Given the description of an element on the screen output the (x, y) to click on. 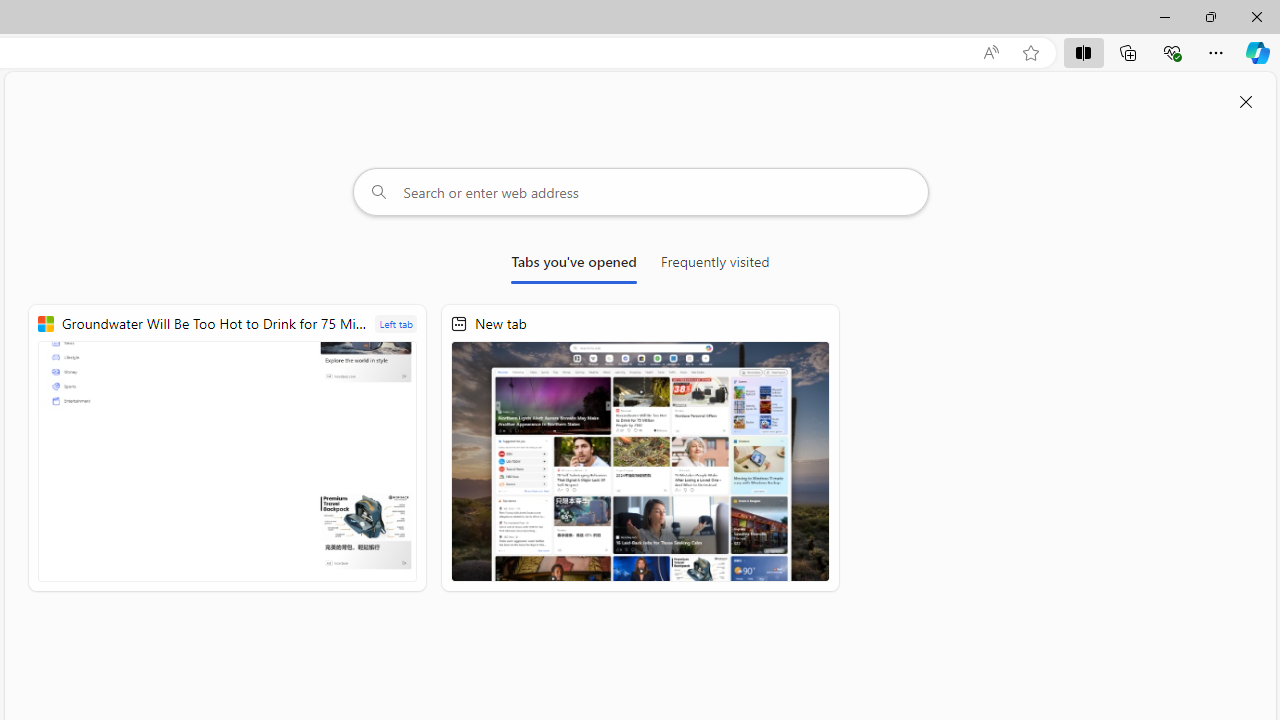
Close split screen (1245, 102)
